Given the description of an element on the screen output the (x, y) to click on. 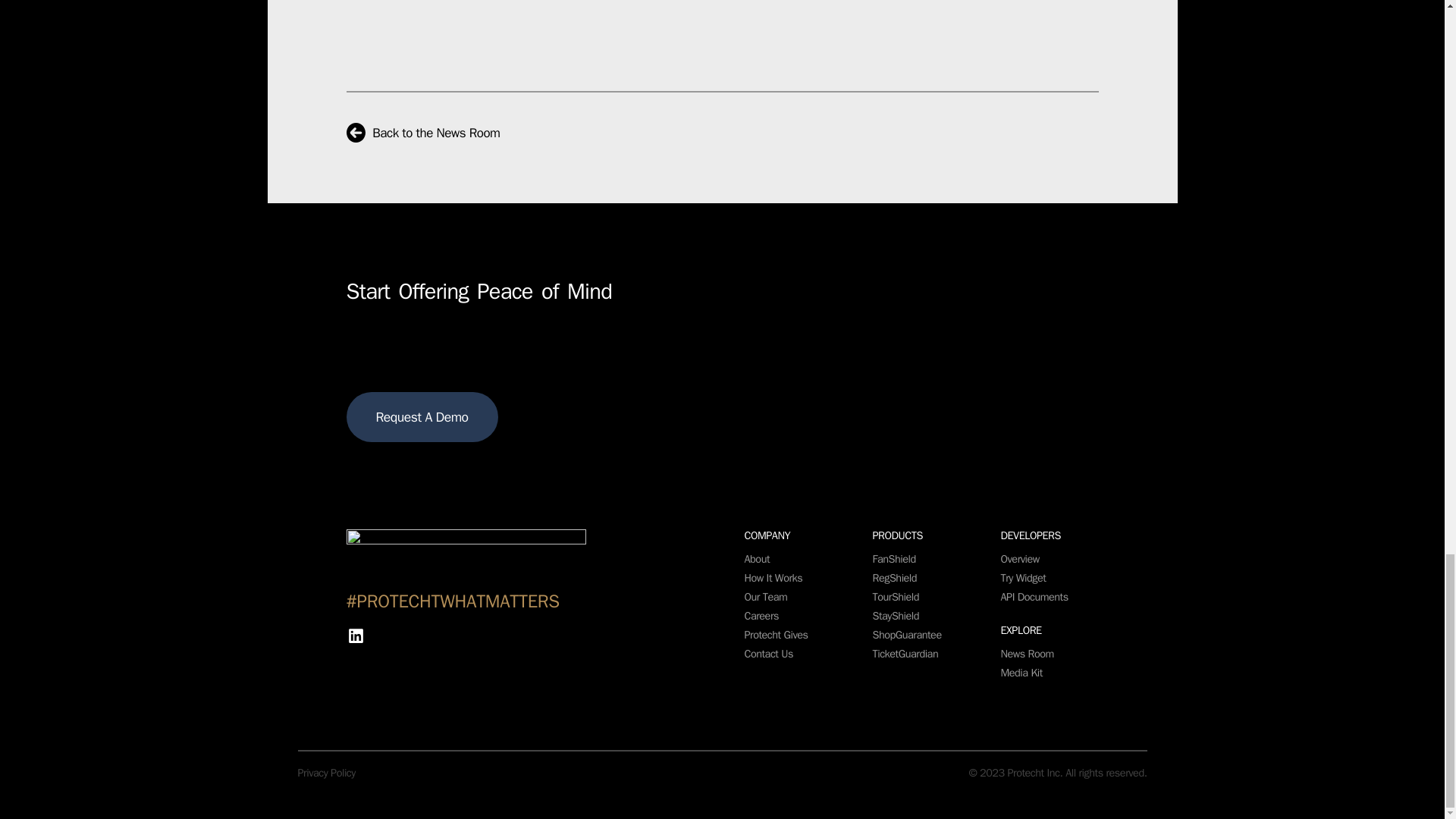
StayShield (895, 615)
News Room (1027, 653)
Protecht Gives (776, 634)
Careers (761, 615)
Our Team (765, 596)
FanShield (893, 558)
Overview (1020, 558)
About (757, 558)
Try Widget (1023, 577)
RegShield (894, 577)
